Given the description of an element on the screen output the (x, y) to click on. 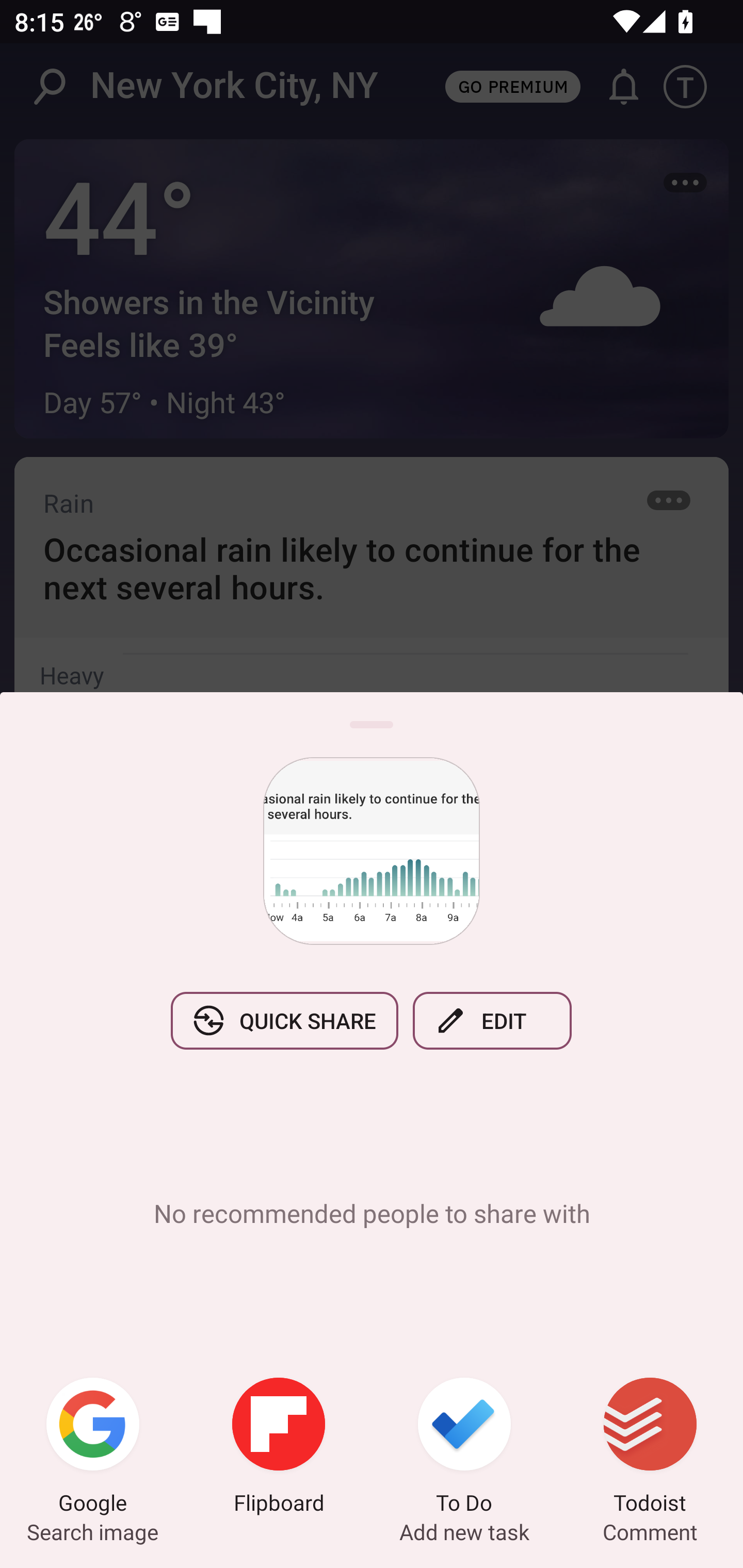
QUICK SHARE (284, 1020)
EDIT (492, 1020)
Google Search image (92, 1448)
Flipboard (278, 1448)
To Do Add new task (464, 1448)
Todoist Comment (650, 1448)
